Given the description of an element on the screen output the (x, y) to click on. 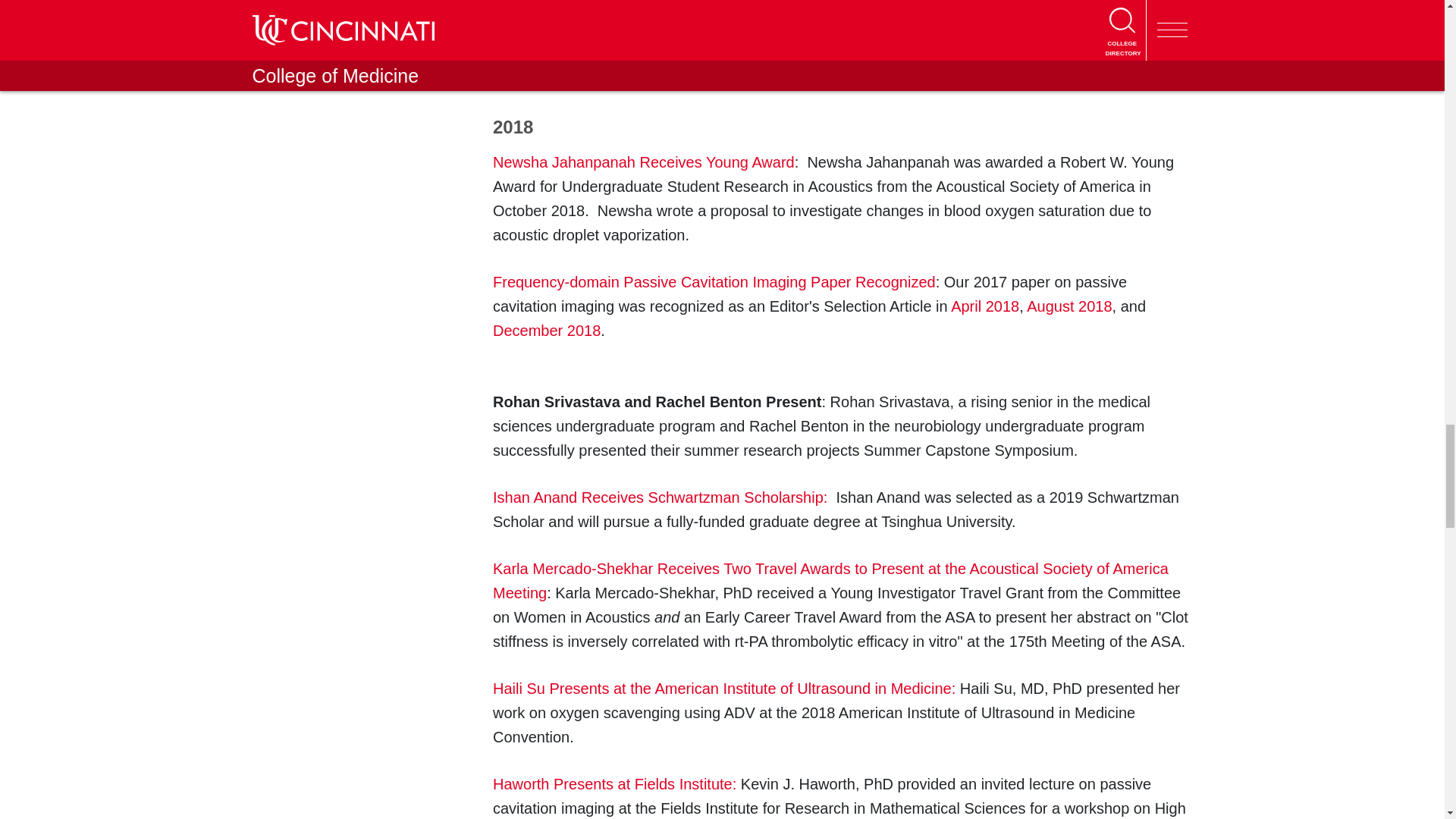
ASA Young Award (618, 33)
Link to Frequency-domain Passive Cavitation Imaging Paper (714, 281)
ASA Young Award (643, 161)
December 2018 IEEE UFFC Editor's Selections (546, 330)
